Given the description of an element on the screen output the (x, y) to click on. 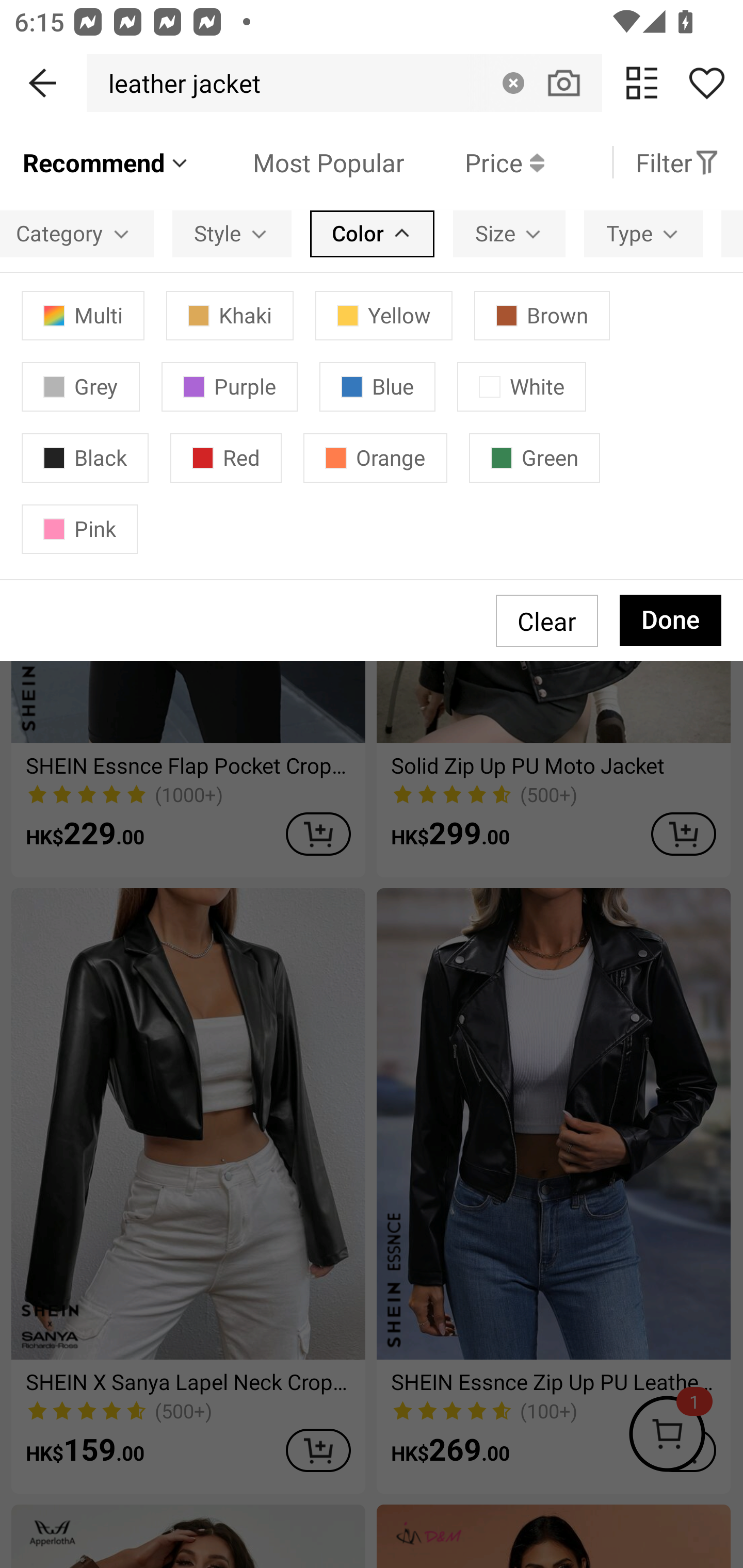
leather jacket Clear (343, 82)
leather jacket (178, 82)
Clear (513, 82)
change view (641, 82)
Share (706, 82)
Recommend (106, 162)
Most Popular (297, 162)
Price (474, 162)
Filter (677, 162)
Category (76, 233)
Style (231, 233)
Color (371, 233)
Size (509, 233)
Type (642, 233)
